Given the description of an element on the screen output the (x, y) to click on. 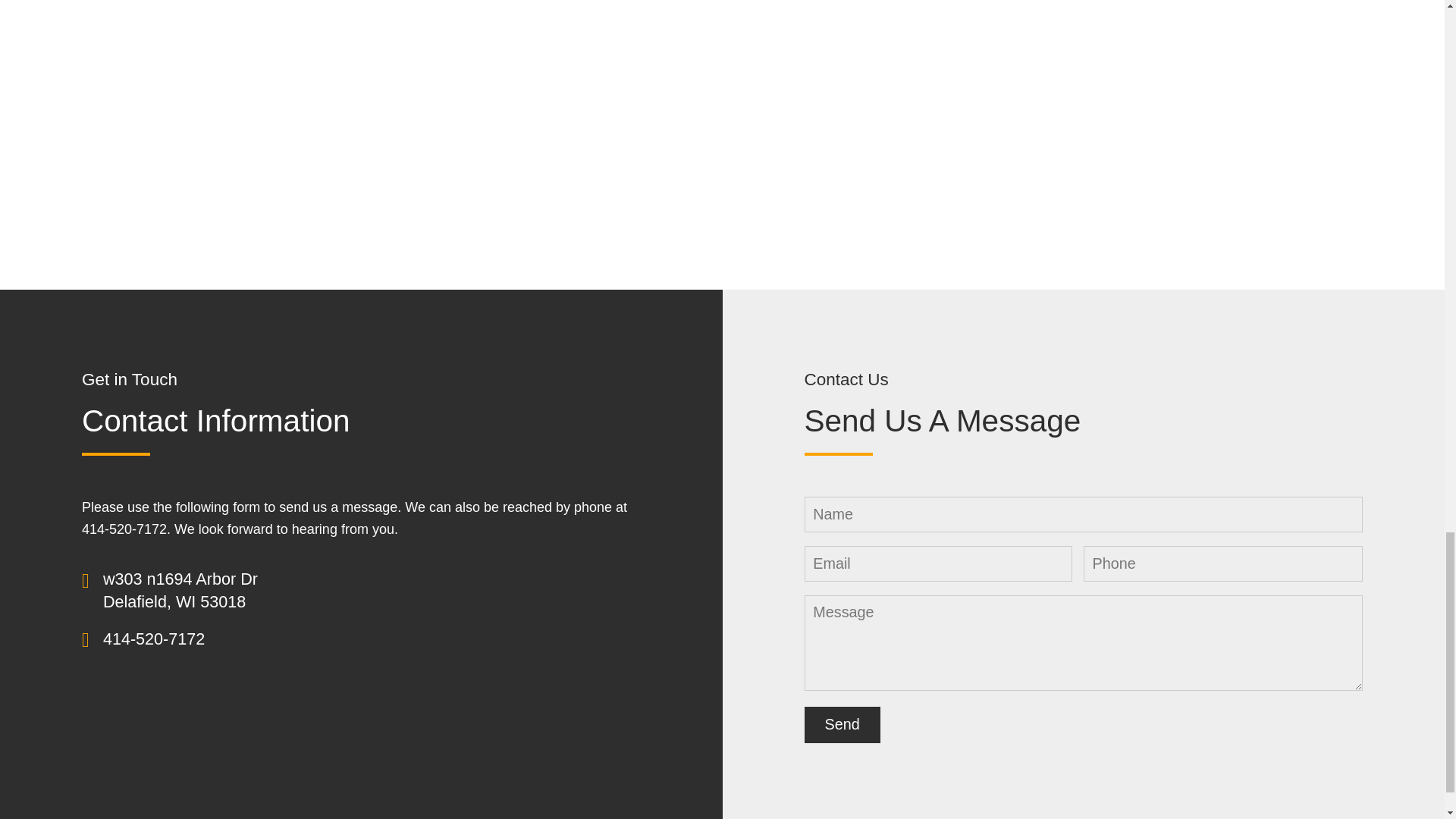
Send (841, 724)
414-520-7172 (154, 639)
Send (841, 724)
